Given the description of an element on the screen output the (x, y) to click on. 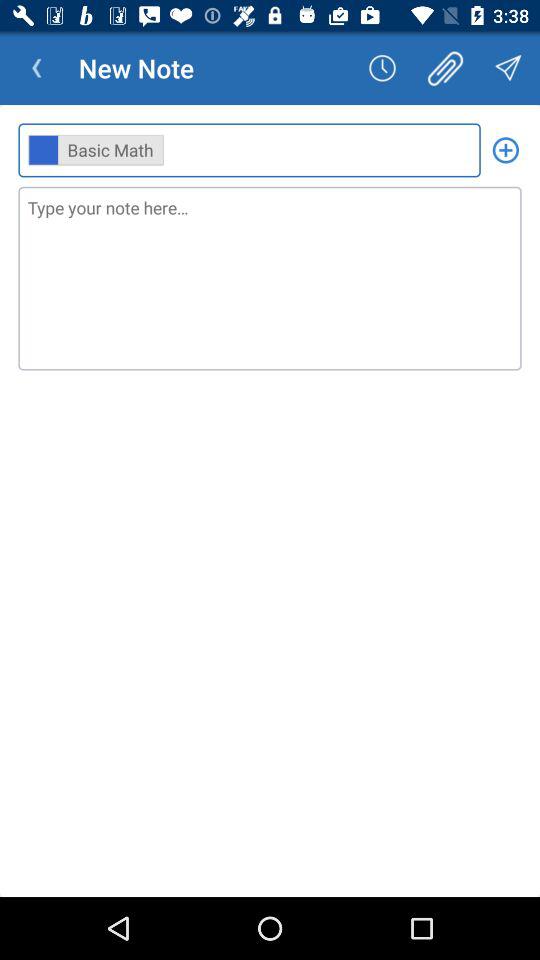
open icon to the right of new note item (381, 67)
